Given the description of an element on the screen output the (x, y) to click on. 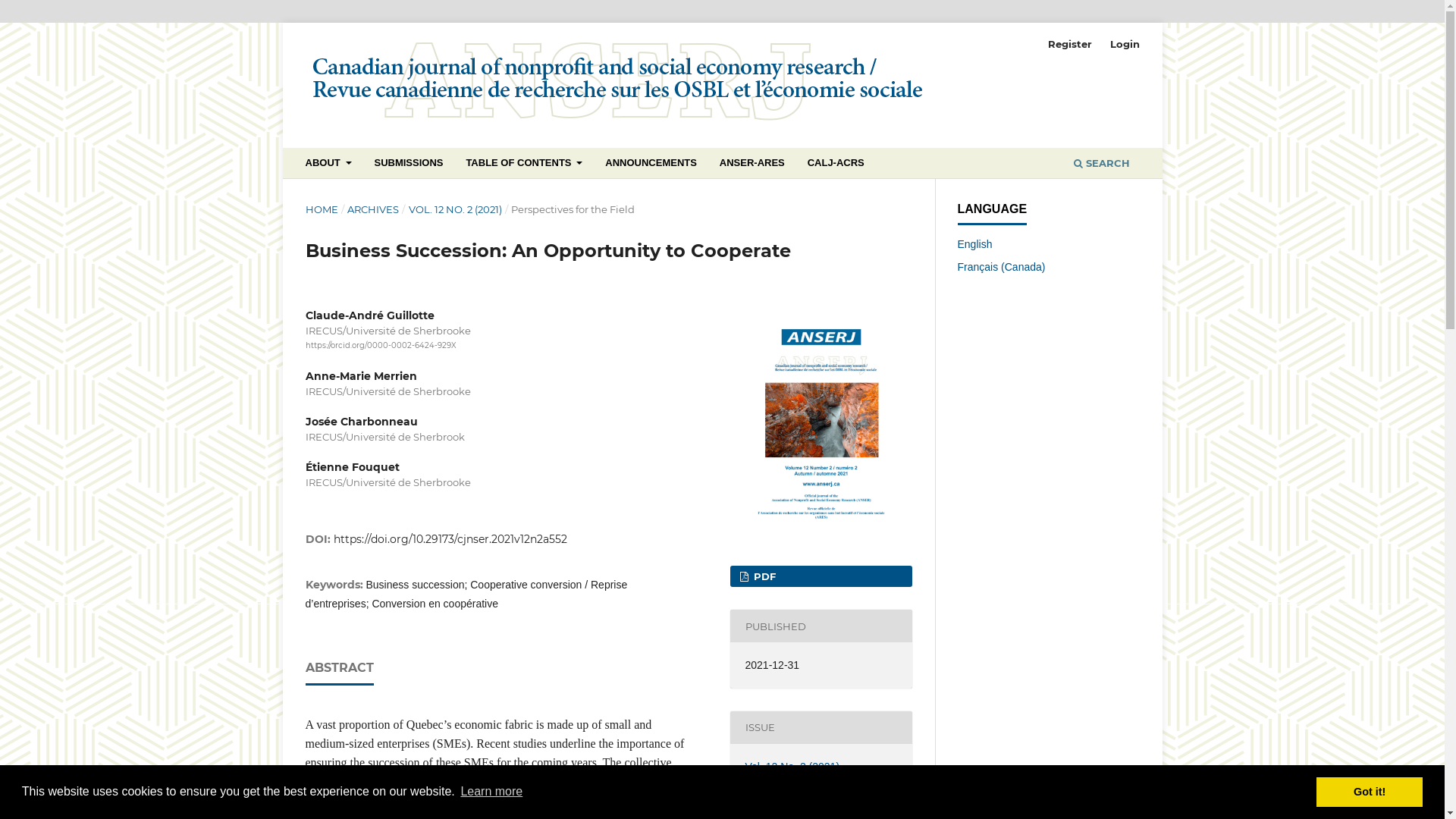
ABOUT Element type: text (328, 164)
ANNOUNCEMENTS Element type: text (651, 164)
Vol. 12 No. 2 (2021) Element type: text (792, 766)
https://doi.org/10.29173/cjnser.2021v12n2a552 Element type: text (450, 539)
SUBMISSIONS Element type: text (408, 164)
https://orcid.org/0000-0002-6424-929X Element type: text (379, 345)
ARCHIVES Element type: text (372, 208)
Learn more Element type: text (491, 791)
English Element type: text (974, 244)
TABLE OF CONTENTS Element type: text (524, 164)
ANSER-ARES Element type: text (751, 164)
Login Element type: text (1124, 43)
Got it! Element type: text (1369, 791)
HOME Element type: text (320, 208)
VOL. 12 NO. 2 (2021) Element type: text (455, 208)
CALJ-ACRS Element type: text (835, 164)
PDF Element type: text (820, 575)
SEARCH Element type: text (1101, 164)
Register Element type: text (1069, 43)
